Given the description of an element on the screen output the (x, y) to click on. 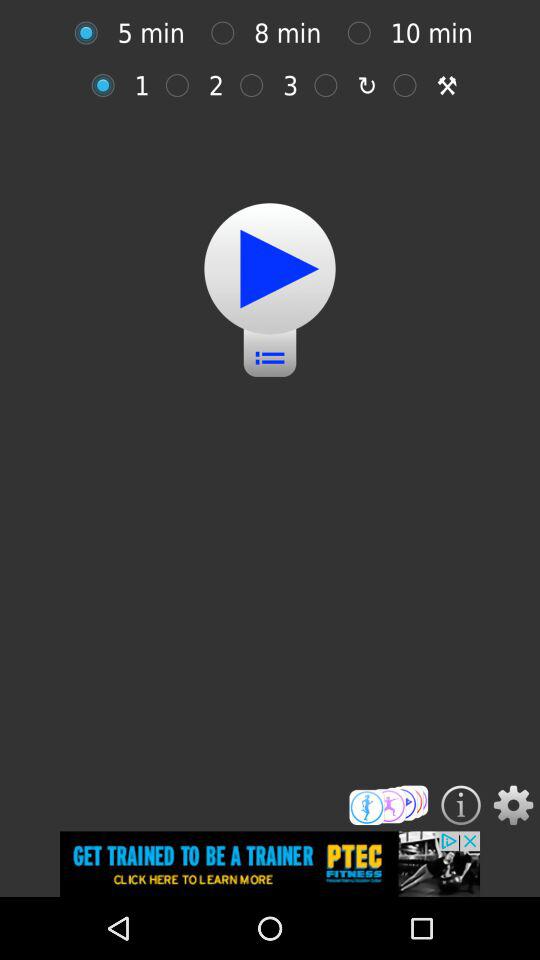
8 minutes option (227, 32)
